Given the description of an element on the screen output the (x, y) to click on. 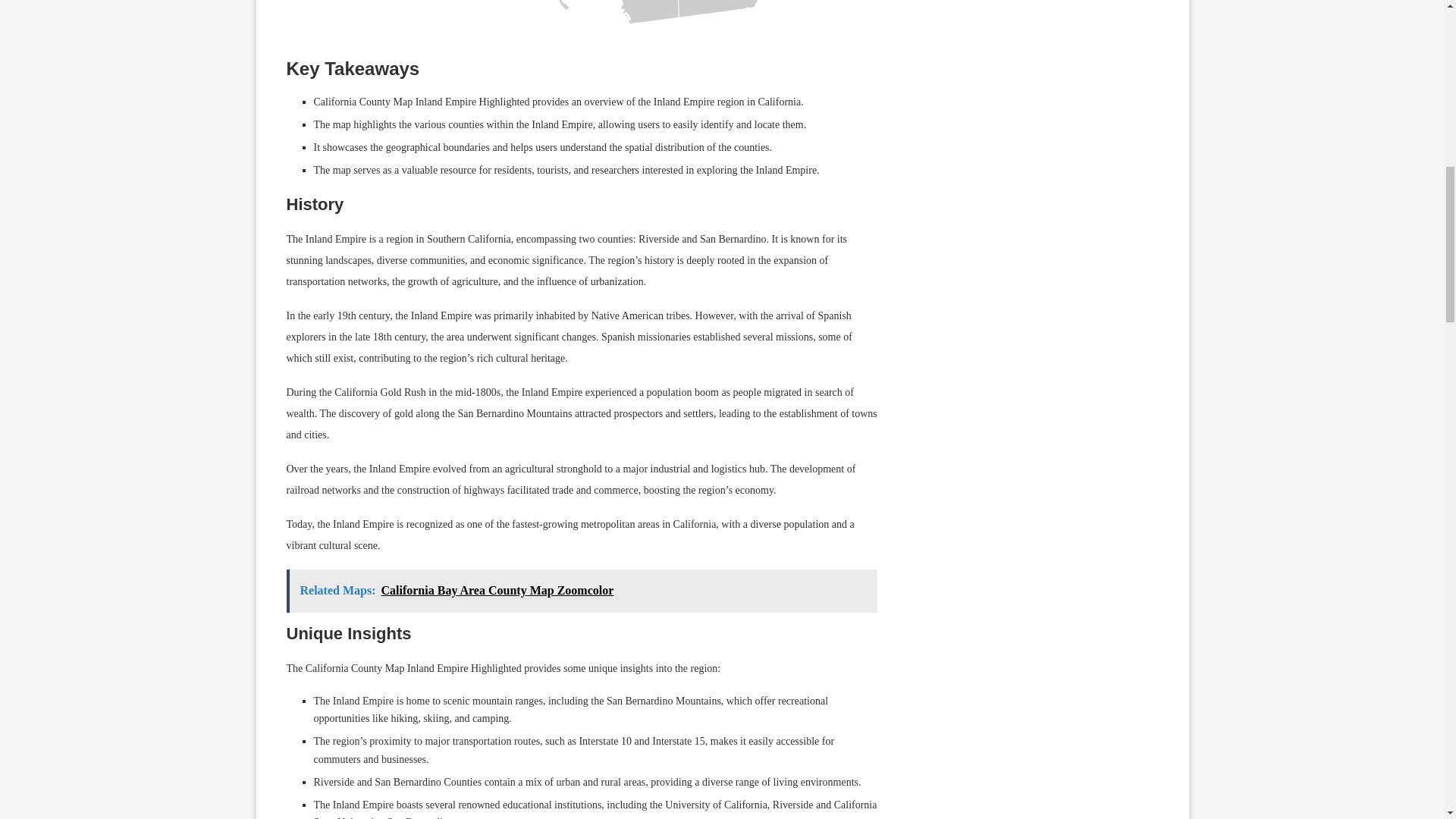
California County Map Inland Empire Highlighted 2 (532, 22)
Related Maps:  California Bay Area County Map Zoomcolor (581, 590)
